Given the description of an element on the screen output the (x, y) to click on. 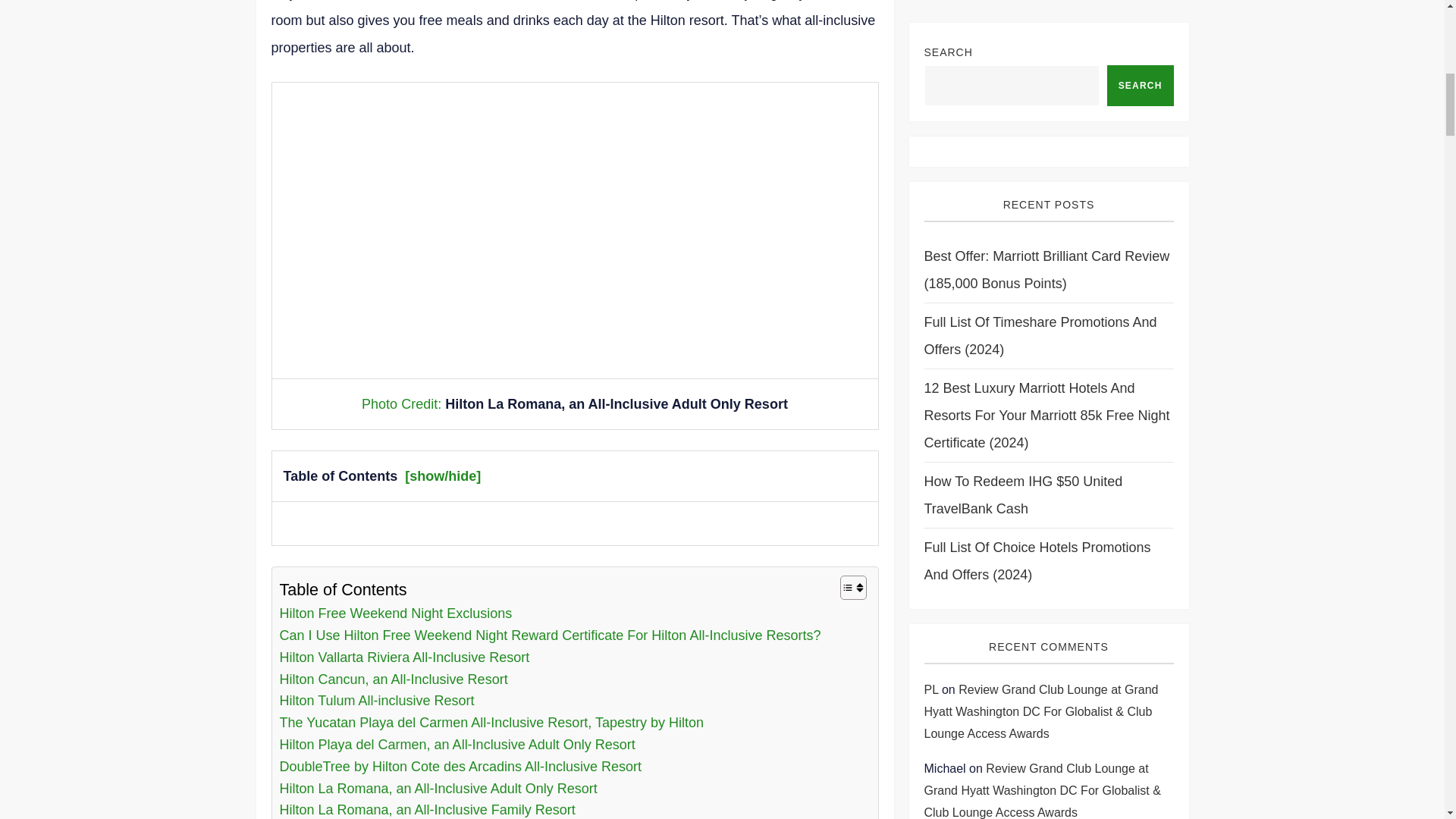
Hilton Vallarta Riviera All-Inclusive Resort (404, 658)
DoubleTree by Hilton Cote des Arcadins All-Inclusive Resort (460, 766)
Hilton La Romana, an All-Inclusive Adult Only Resort (437, 789)
Hilton La Romana, an All-Inclusive Family Resort (427, 809)
Hilton Free Weekend Night Exclusions (395, 613)
Hilton Playa del Carmen, an All-Inclusive Adult Only Resort (456, 744)
